Given the description of an element on the screen output the (x, y) to click on. 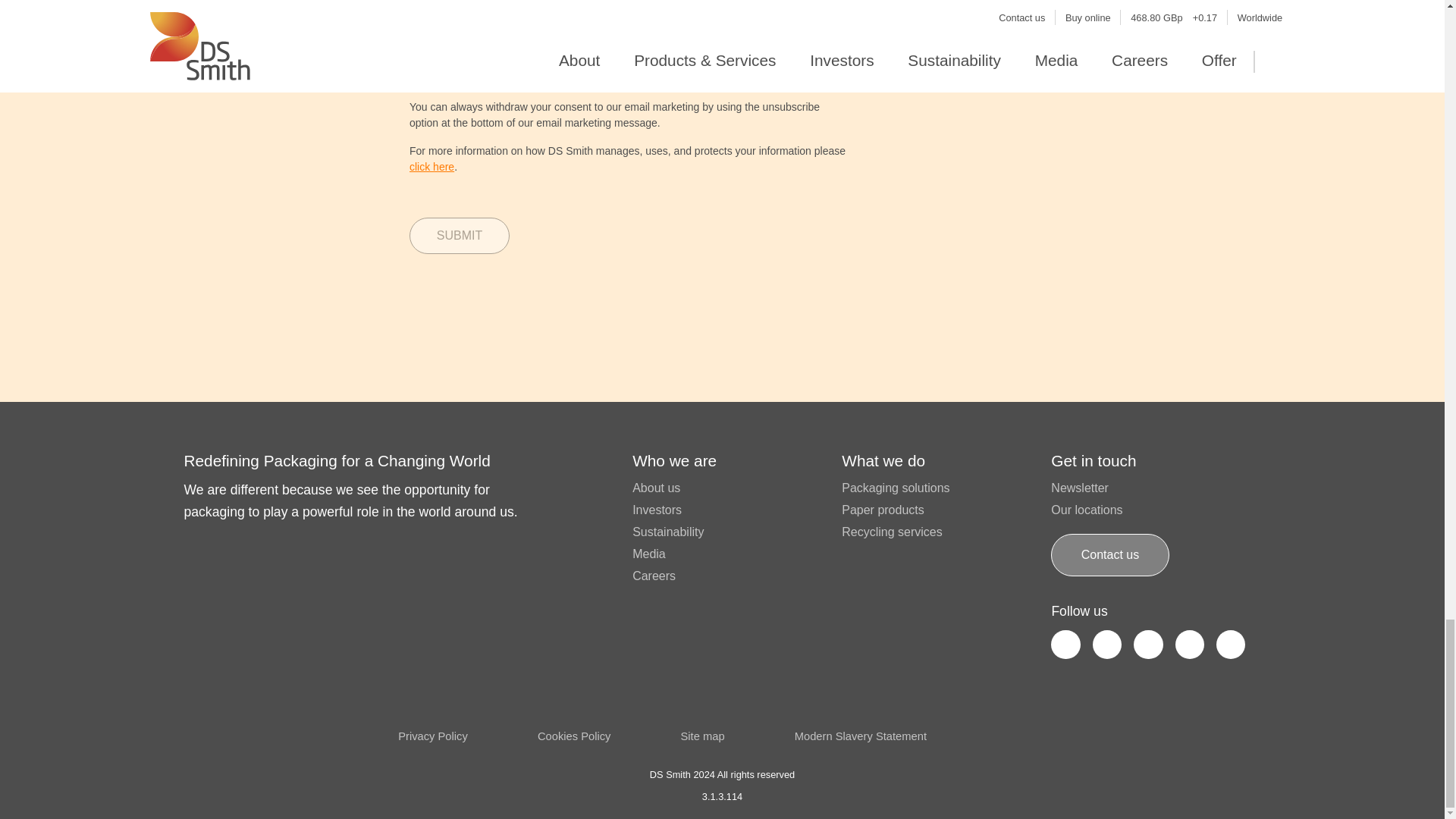
Careers (653, 575)
Paper products (882, 509)
false (473, 4)
About us (655, 487)
Our locations (1086, 509)
Media (648, 553)
The power of Less (1126, 734)
true (414, 4)
DS Smith (221, 716)
Recycling services (891, 531)
